Given the description of an element on the screen output the (x, y) to click on. 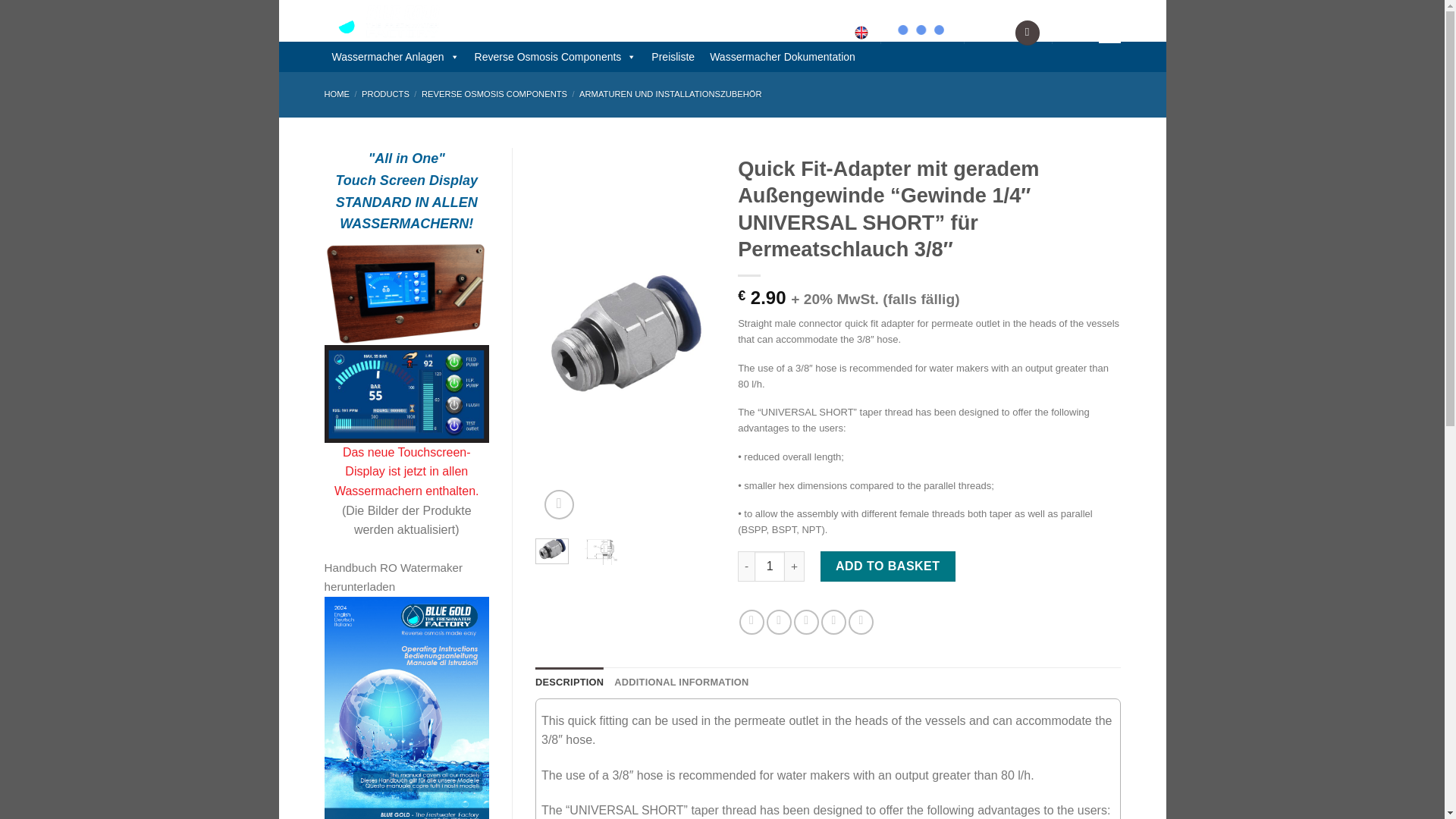
Wassermacher Anlagen (395, 56)
Share on Twitter (779, 621)
Share on LinkedIn (860, 621)
HOME (337, 93)
Wassermacher Dokumentation (782, 56)
Share on Facebook (751, 621)
Reverse Osmosis Components (556, 56)
REVERSE OSMOSIS COMPONENTS (494, 93)
1 (769, 566)
Zoom (558, 504)
